Given the description of an element on the screen output the (x, y) to click on. 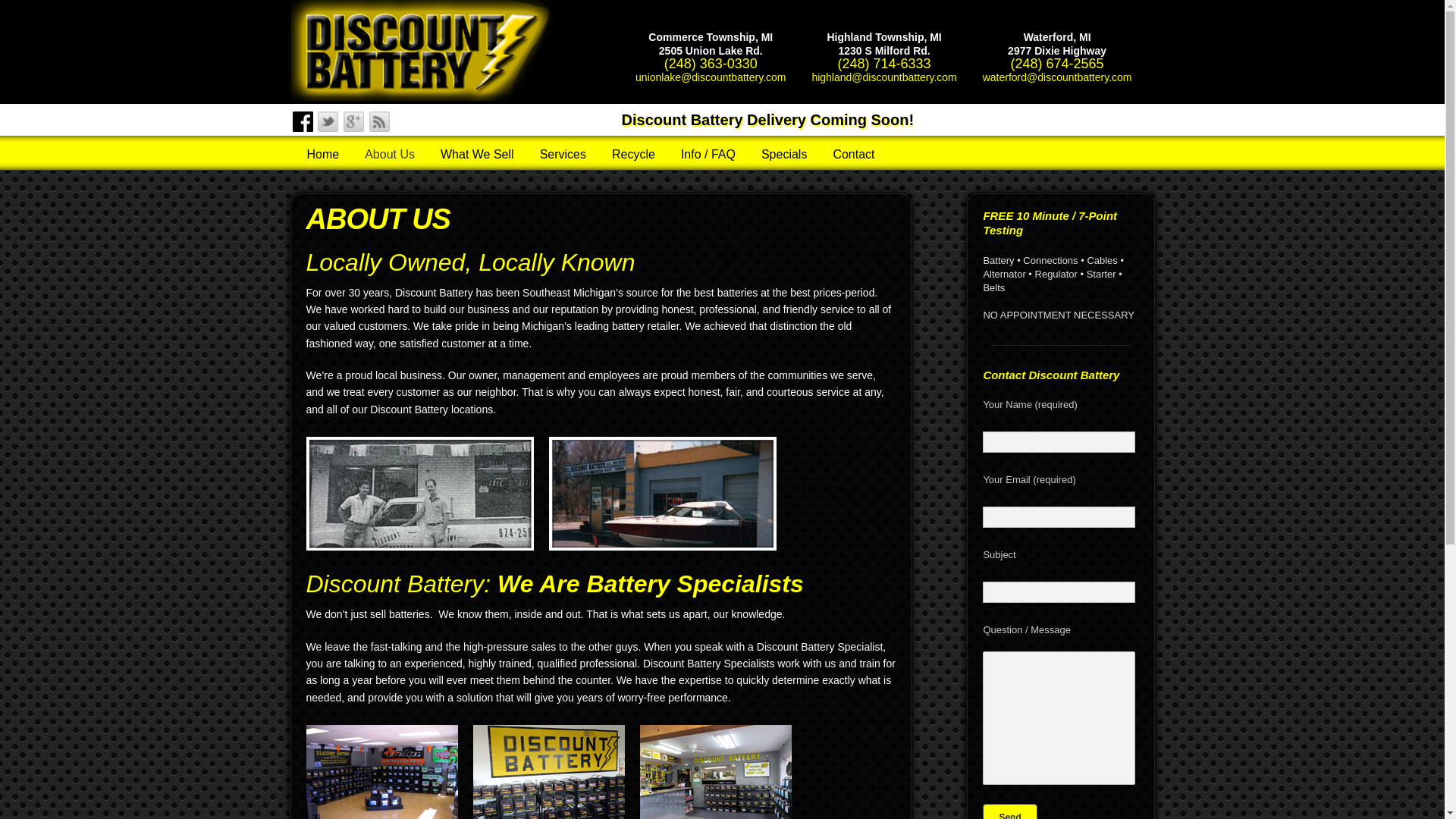
Services (559, 154)
Home (318, 154)
About Us (385, 154)
Send (1009, 811)
What We Sell (472, 154)
Recycle (629, 154)
